Given the description of an element on the screen output the (x, y) to click on. 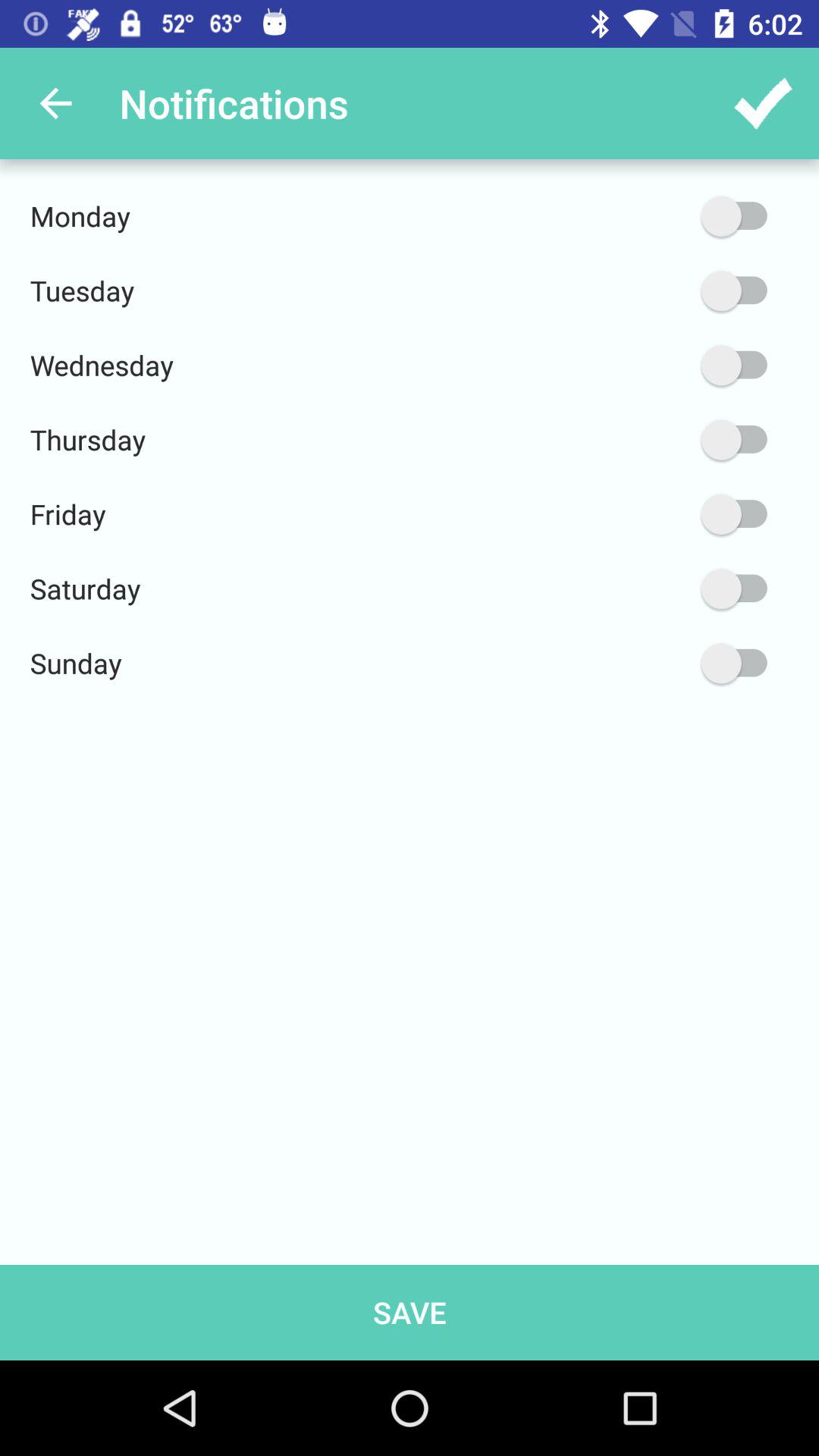
choose icon to the right of monday icon (661, 216)
